Given the description of an element on the screen output the (x, y) to click on. 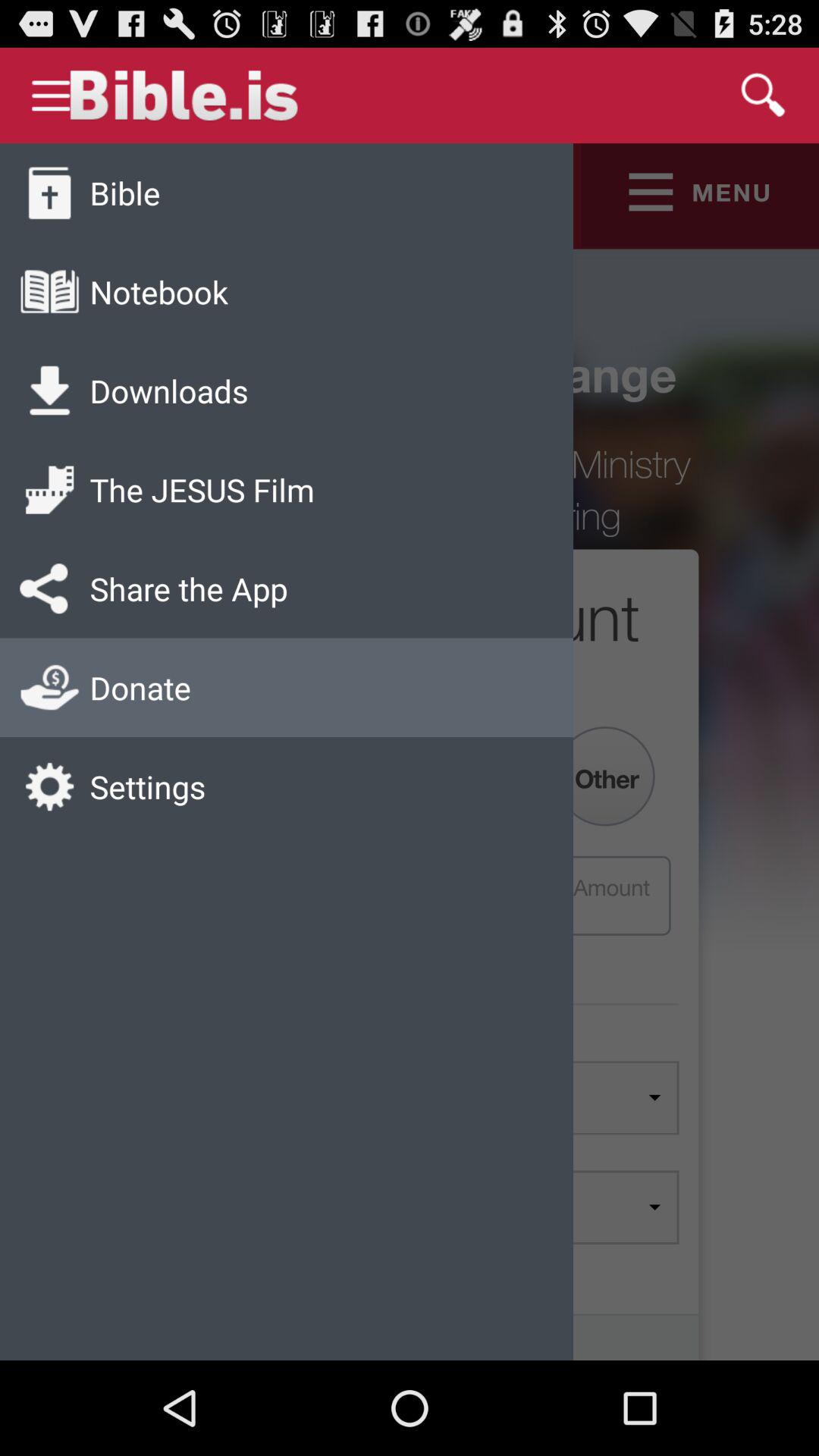
click icon at the center (409, 751)
